Given the description of an element on the screen output the (x, y) to click on. 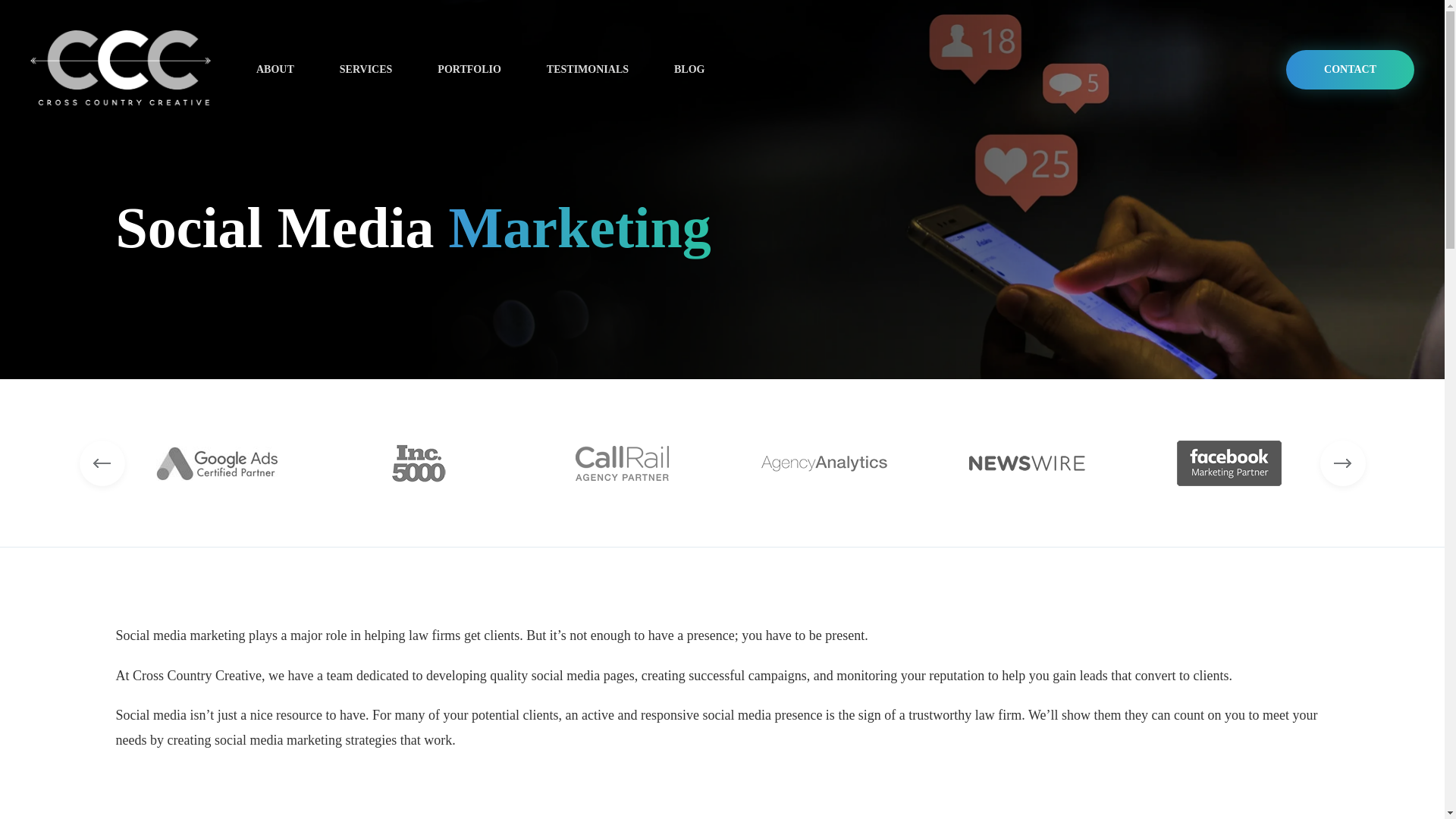
agency-analytics (823, 463)
inc5000small (418, 463)
SERVICES (366, 69)
PORTFOLIO (469, 69)
Previous (100, 463)
CONTACT (1349, 69)
Next (1342, 463)
call-rail (621, 462)
partner-facebook (1228, 463)
partner-google-ads (216, 463)
news-wire (1026, 462)
TESTIMONIALS (587, 69)
